Given the description of an element on the screen output the (x, y) to click on. 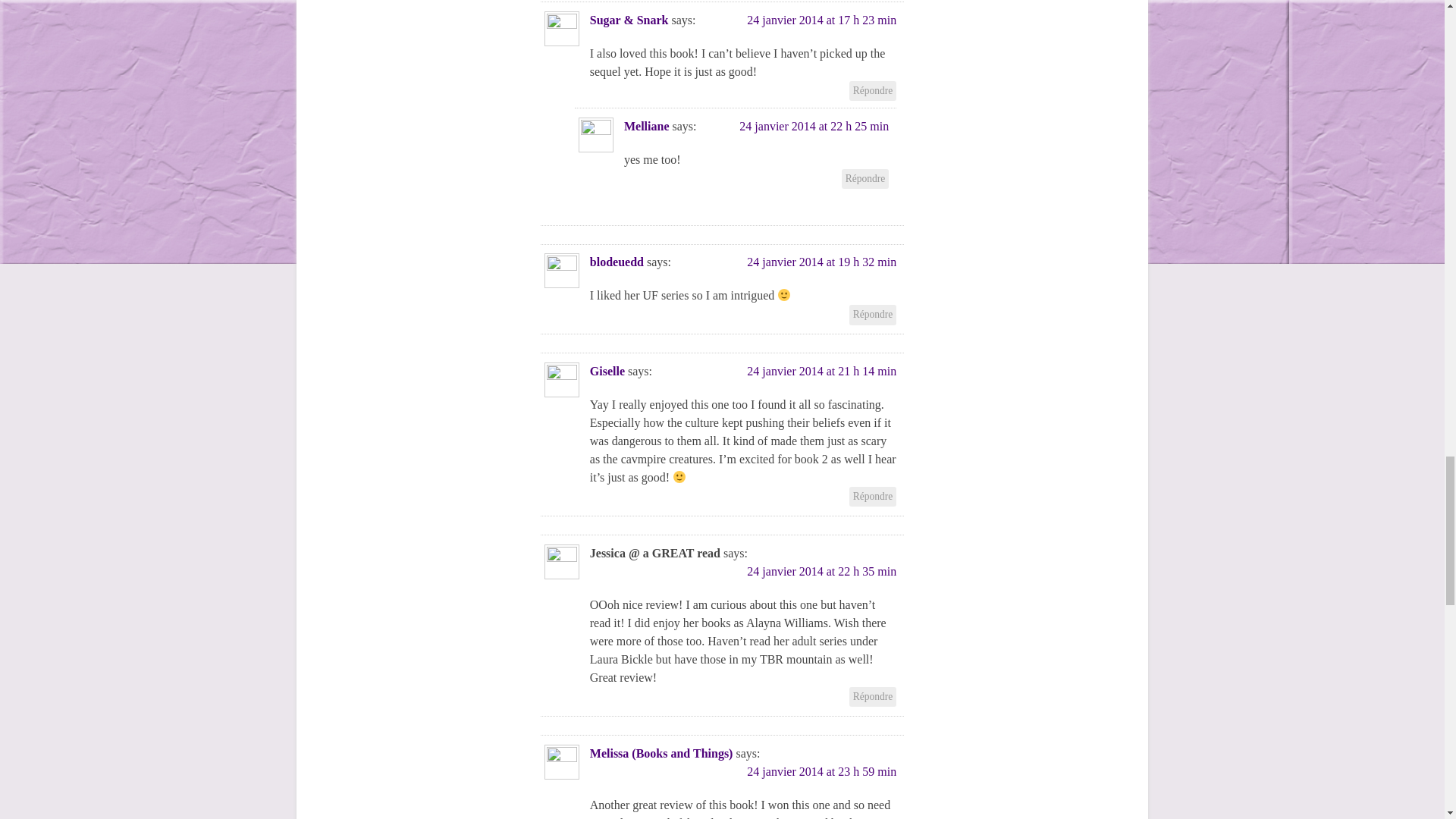
24 janvier 2014 at 17 h 23 min (821, 19)
